Given the description of an element on the screen output the (x, y) to click on. 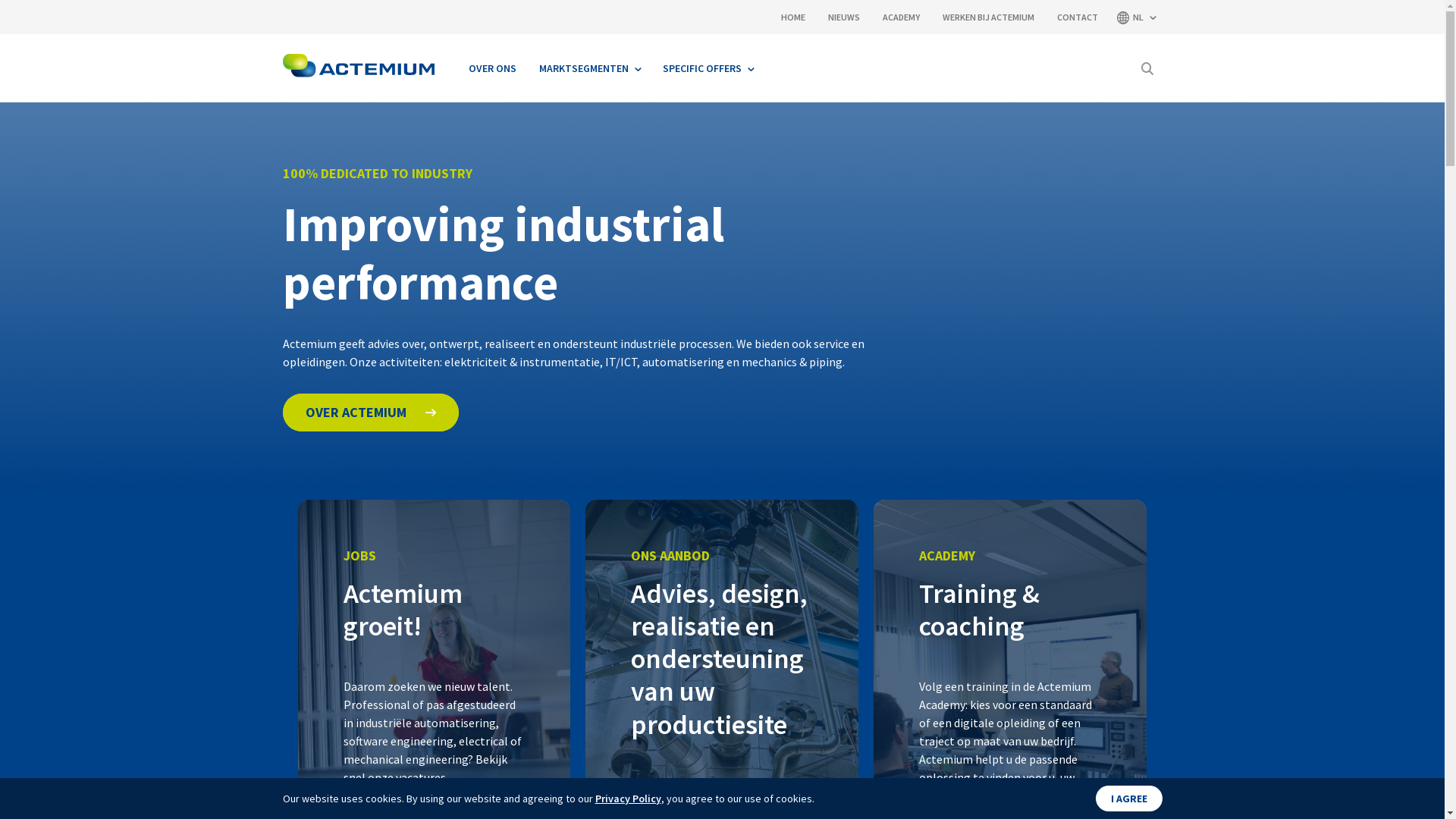
SPECIFIC OFFERS Element type: text (706, 68)
HOME Element type: text (792, 17)
WERKEN BIJ ACTEMIUM Element type: text (987, 17)
CONTACT Element type: text (1077, 17)
NIEUWS Element type: text (843, 17)
OVER ONS Element type: text (491, 68)
OVER ACTEMIUM Element type: text (370, 412)
NL Element type: text (1134, 17)
ACADEMY Element type: text (901, 17)
I AGREE Element type: text (1128, 798)
MARKTSEGMENTEN Element type: text (589, 68)
Privacy Policy Element type: text (627, 798)
